Given the description of an element on the screen output the (x, y) to click on. 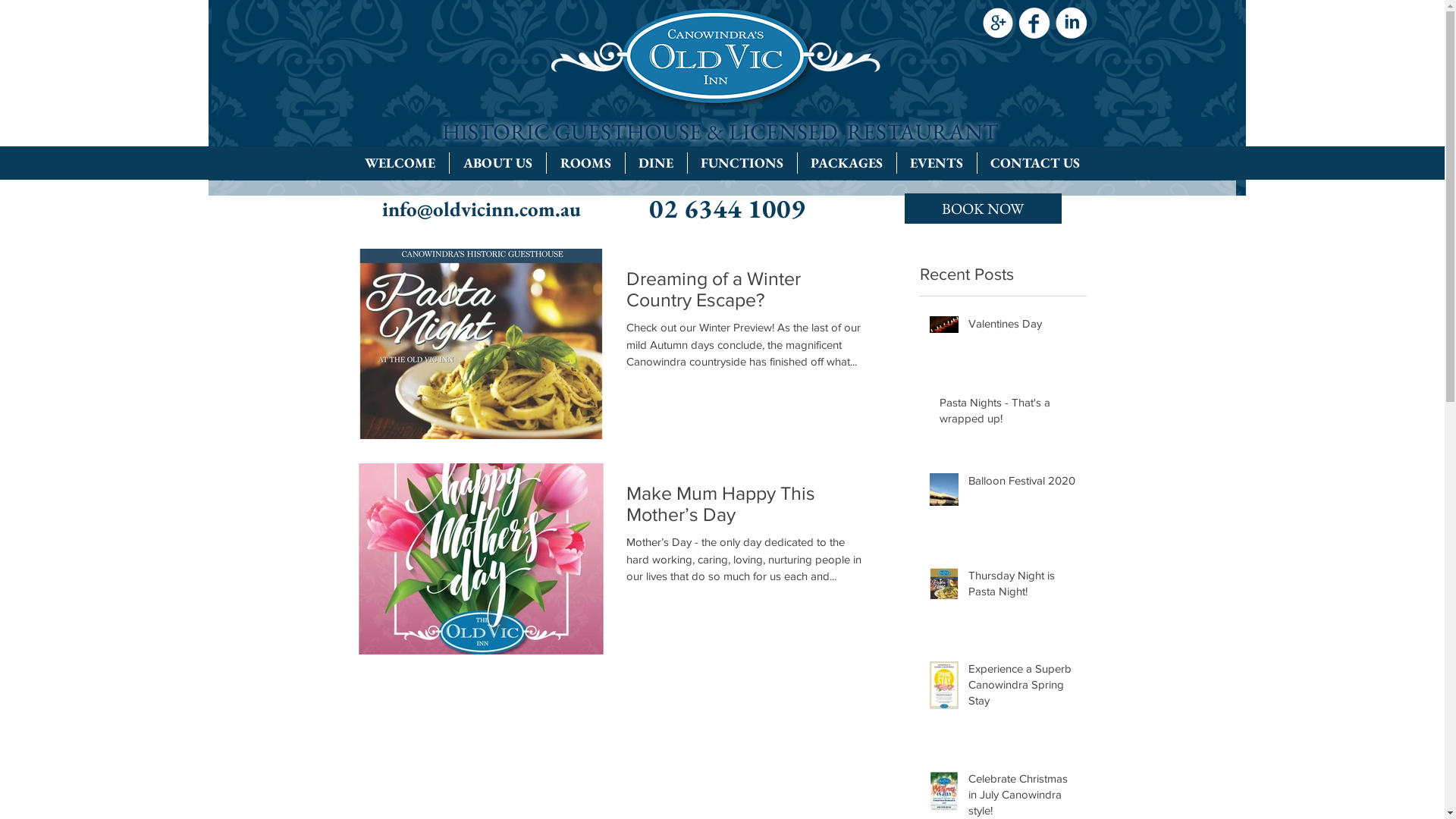
info@oldvicinn.com.au Element type: text (481, 208)
BOOK NOW Element type: text (981, 208)
social_media_icons_Linkedin.png Element type: hover (1070, 22)
Balloon Festival 2020 Element type: text (1021, 483)
Dreaming of a Winter Country Escape? Element type: text (747, 292)
Pasta Nights - That's a wrapped up! Element type: text (1007, 413)
PACKAGES Element type: text (846, 162)
Untitled-1a.png Element type: hover (726, 97)
EVENTS Element type: text (935, 162)
social_media_iconsgoogle.png Element type: hover (997, 22)
FUNCTIONS Element type: text (741, 162)
ABOUT US Element type: text (496, 162)
social_media_icons_FB2.png Element type: hover (1033, 22)
Thursday Night is Pasta Night! Element type: text (1021, 586)
Experience a Superb Canowindra Spring Stay Element type: text (1021, 687)
DINE Element type: text (655, 162)
WELCOME Element type: text (399, 162)
Untitled1.png Element type: hover (714, 333)
Valentines Day Element type: text (1021, 326)
CONTACT US Element type: text (1034, 162)
Untitled-1a.png Element type: hover (721, 58)
ROOMS Element type: text (585, 162)
